Given the description of an element on the screen output the (x, y) to click on. 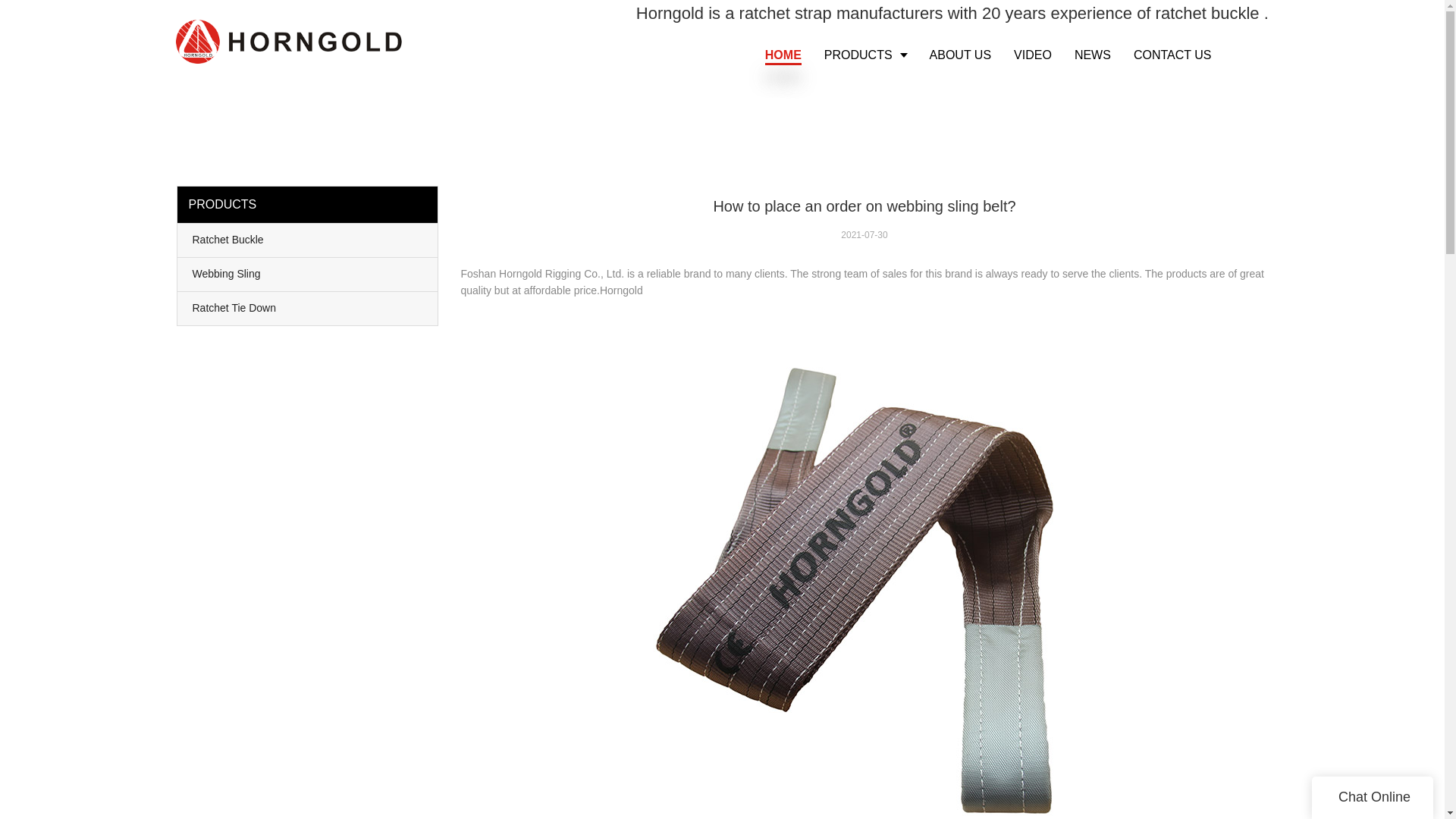
PRODUCTS (865, 55)
Webbing Sling (307, 274)
CONTACT US (1172, 55)
Ratchet Buckle (307, 240)
VIDEO (1032, 55)
ABOUT US (960, 55)
HOME (783, 55)
Ratchet Tie Down (307, 308)
NEWS (1092, 55)
